Given the description of an element on the screen output the (x, y) to click on. 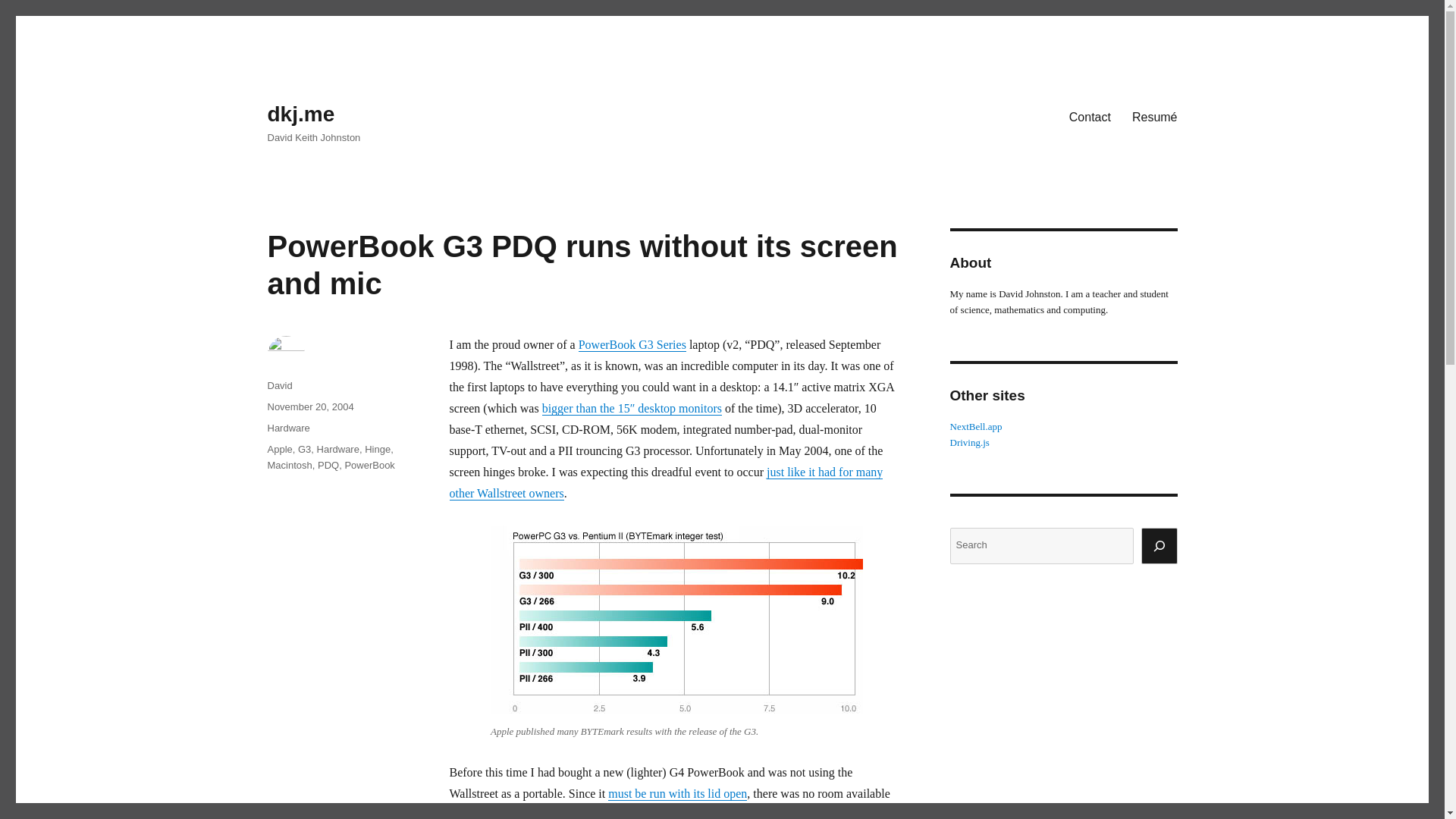
Contact (1089, 116)
just like it had for many other Wallstreet owners (665, 482)
Macintosh (288, 464)
PDQ (328, 464)
David (279, 385)
G3 (304, 449)
Hardware (287, 428)
Apple (279, 449)
NextBell.app (975, 426)
November 20, 2004 (309, 406)
